Given the description of an element on the screen output the (x, y) to click on. 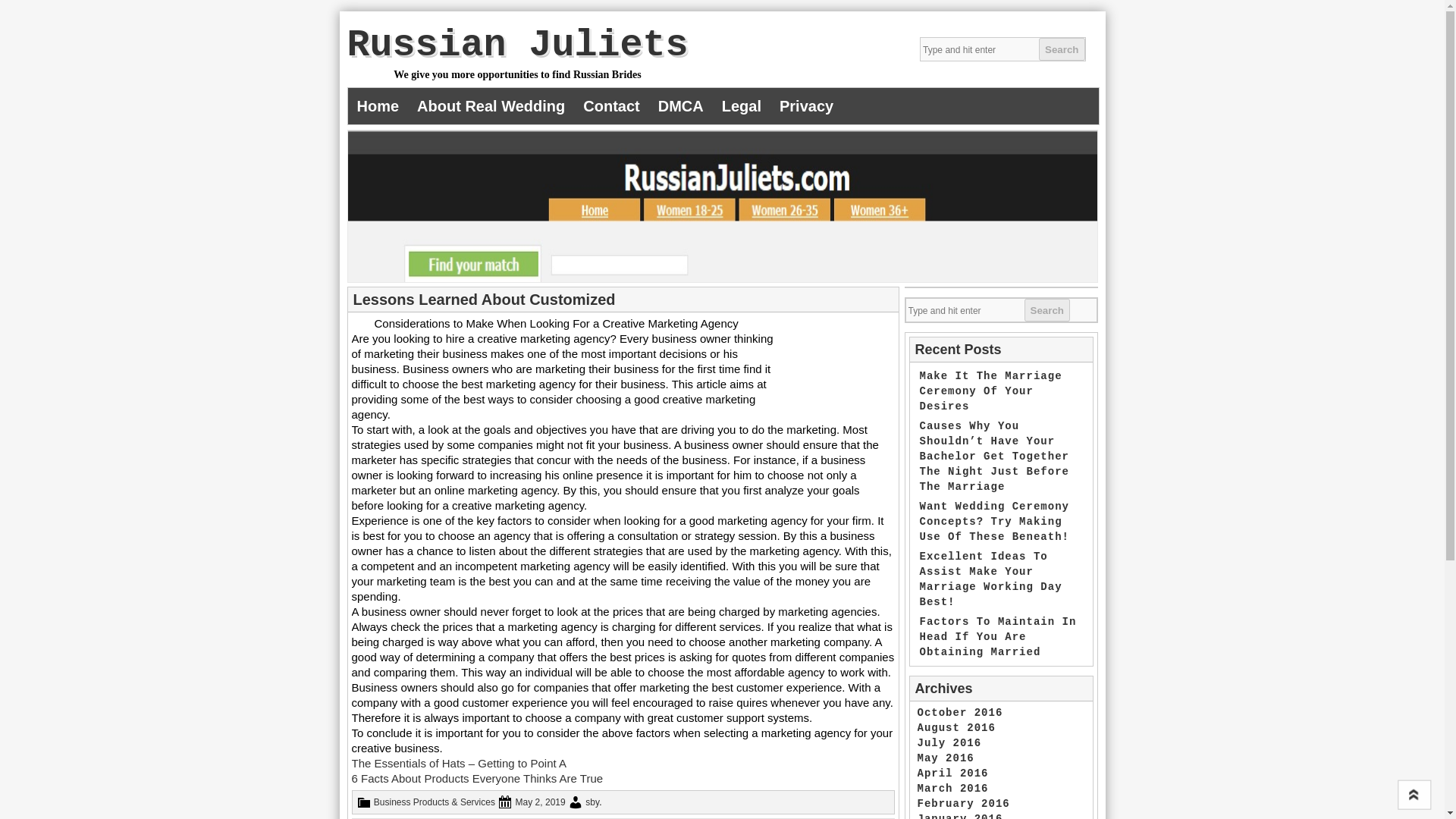
Search (1045, 309)
April 2016 (952, 773)
Russian Juliets (517, 45)
October 2016 (960, 712)
Factors To Maintain In Head If You Are Obtaining Married (996, 636)
March 2016 (952, 788)
Contact (610, 105)
Search (1061, 48)
8:52 pm (540, 801)
Russian Juliets (517, 45)
